Given the description of an element on the screen output the (x, y) to click on. 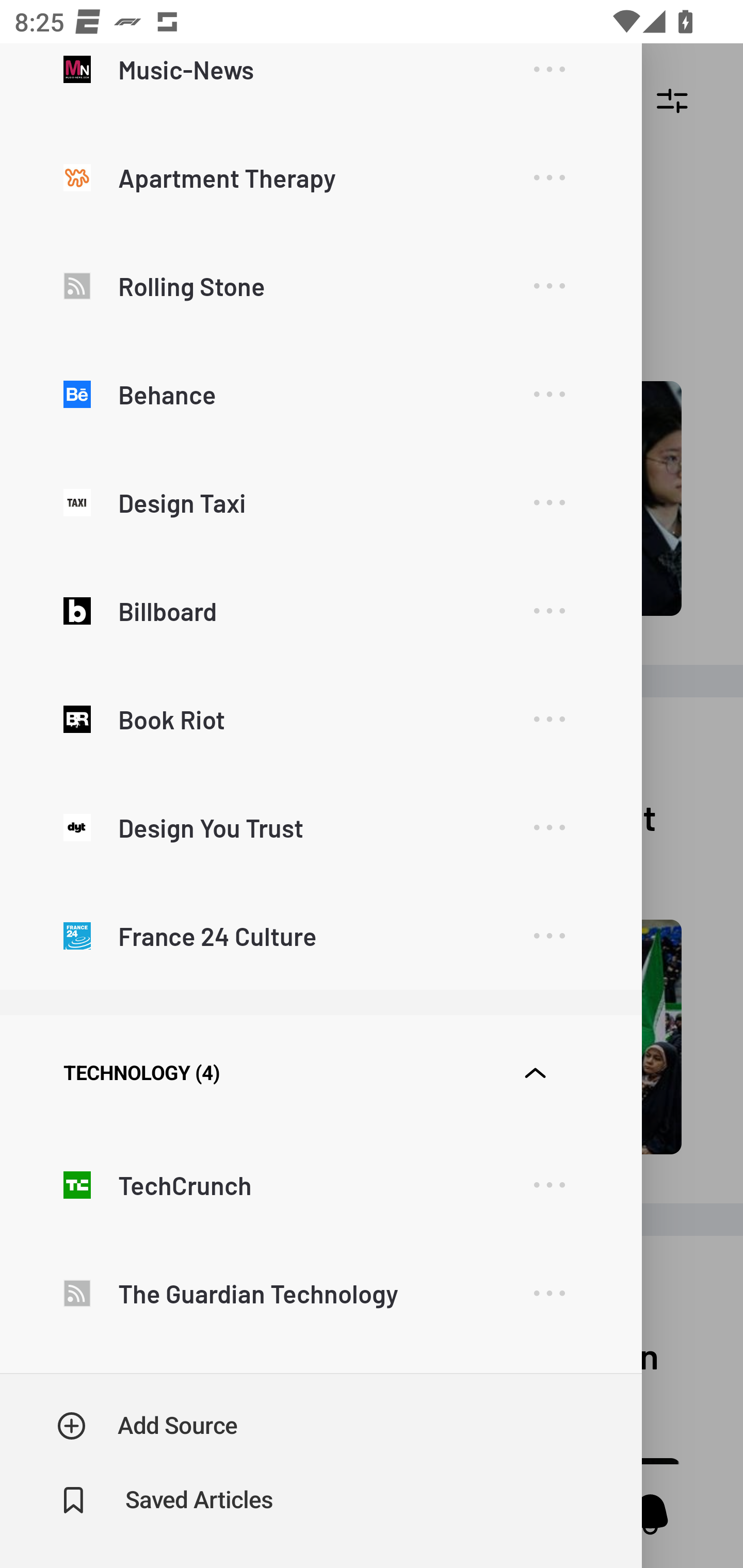
Writer Logo Music-News More Options (320, 83)
More Options (548, 77)
Writer Logo Apartment Therapy More Options (320, 177)
More Options (548, 177)
RSS Feed Icon Rolling Stone More Options (320, 286)
More Options (548, 286)
Writer Logo Behance More Options (320, 394)
More Options (548, 394)
Writer Logo Design Taxi More Options (320, 502)
More Options (548, 502)
Writer Logo Billboard More Options (320, 610)
More Options (548, 610)
Writer Logo Book Riot More Options (320, 718)
More Options (548, 719)
Writer Logo Design You Trust More Options (320, 827)
More Options (548, 827)
Writer Logo France 24 Culture More Options (320, 935)
More Options (548, 936)
Expand Button (534, 1073)
Writer Logo TechCrunch More Options (320, 1184)
More Options (548, 1185)
RSS Feed Icon The Guardian Technology More Options (320, 1292)
More Options (548, 1293)
Open Content Store Add Source (147, 1425)
Open Saved News  Saved Articles (166, 1500)
